Given the description of an element on the screen output the (x, y) to click on. 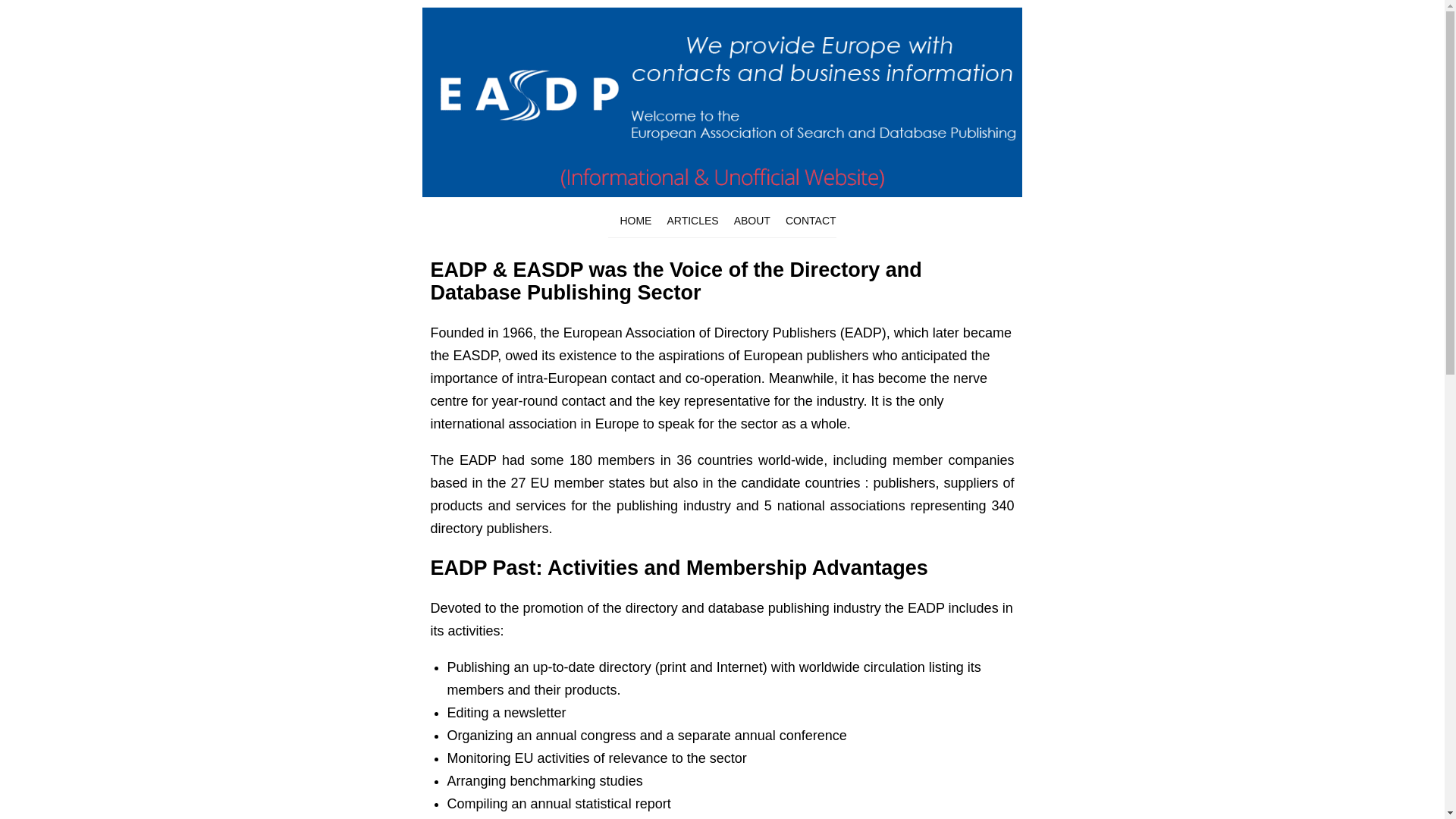
ARTICLES (691, 220)
HOME (635, 220)
CONTACT (810, 220)
ABOUT (751, 220)
